Given the description of an element on the screen output the (x, y) to click on. 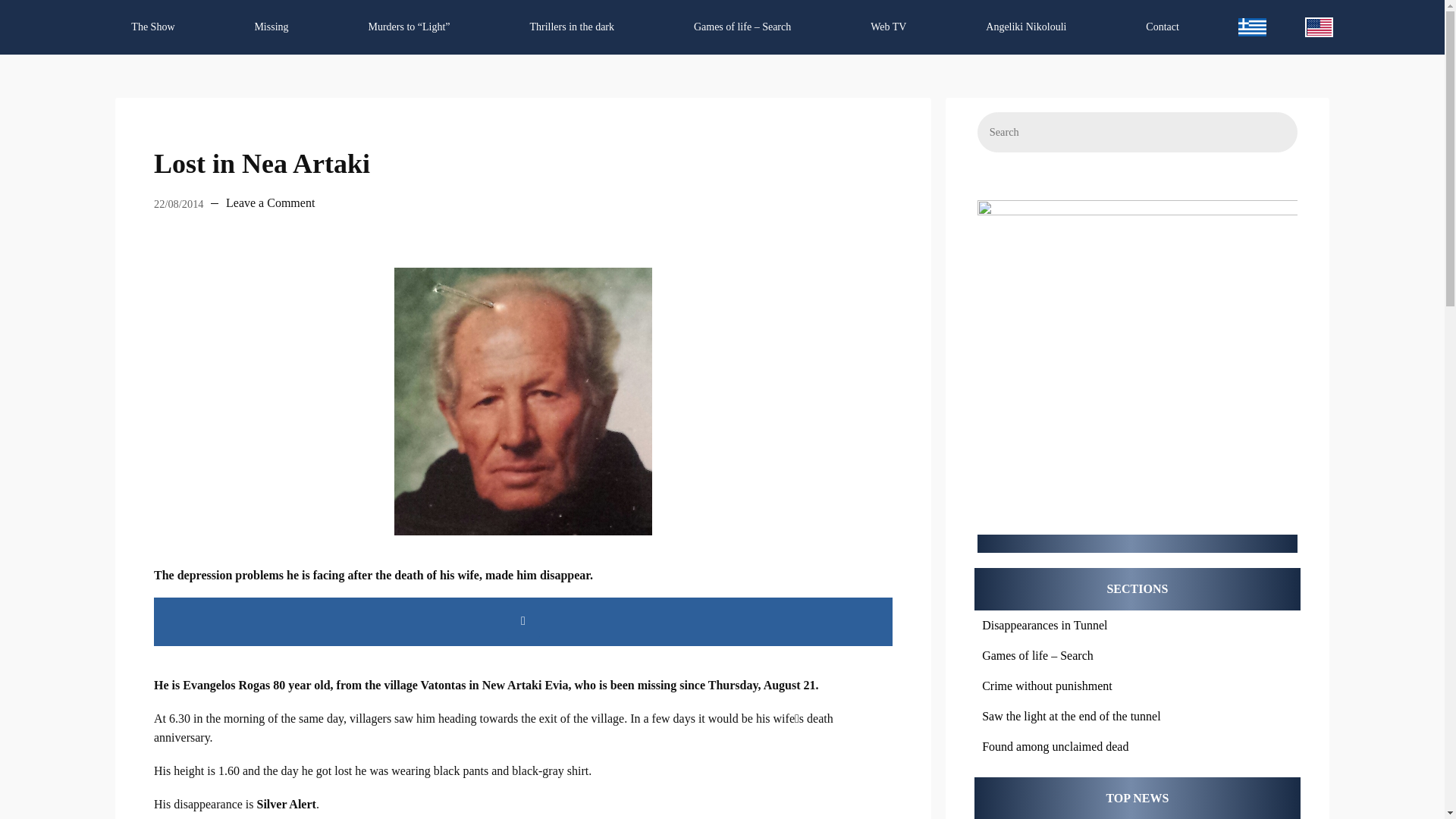
Missing (270, 27)
Angeliki Nikolouli (1026, 27)
The Show (152, 27)
Thrillers in the dark (571, 27)
Web TV (888, 27)
